Given the description of an element on the screen output the (x, y) to click on. 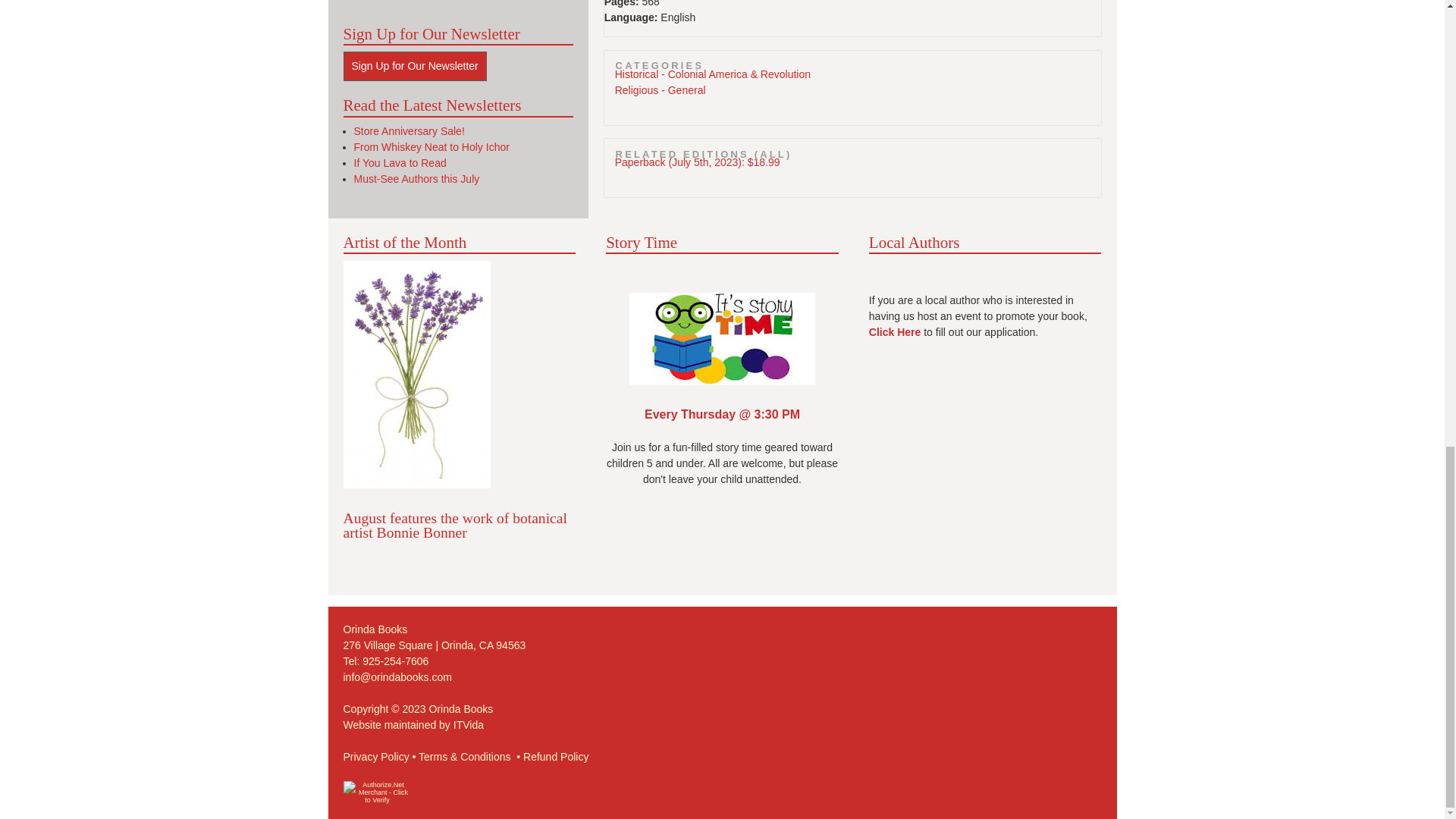
Refund Policy (555, 756)
Click Here (894, 331)
If You Lava to Read (399, 162)
Store Anniversary Sale! (408, 131)
August features the work of botanical artist Bonnie Bonner (454, 525)
Sign Up for Our Newsletter (414, 66)
From Whiskey Neat to Holy Ichor (430, 146)
Must-See Authors this July (416, 178)
ITVida (467, 725)
Religious - General (660, 90)
